Given the description of an element on the screen output the (x, y) to click on. 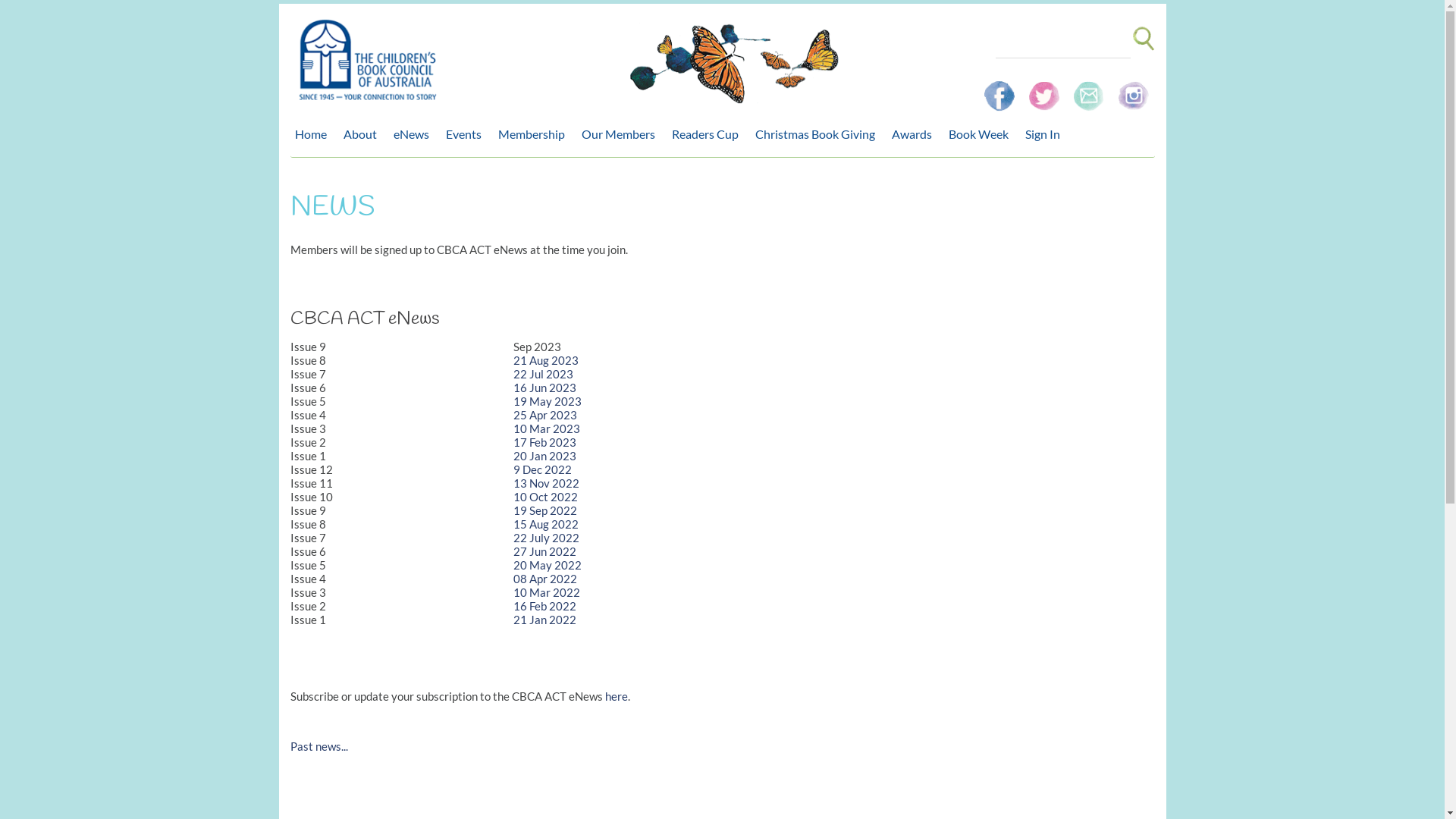
19 May 2023 Element type: text (547, 400)
Readers Cup Element type: text (708, 133)
25 Apr 2023 Element type: text (545, 414)
20 Jan 2023 Element type: text (544, 455)
Twitter @TheCBCA Element type: hover (1044, 89)
21 Aug 2023 Element type: text (545, 360)
Christmas Book Giving Element type: text (818, 133)
10 Oct 2022 Element type: text (545, 496)
Home Element type: text (313, 133)
Membership Element type: text (534, 133)
Sign In Element type: text (1046, 133)
27 Jun 2022 Element type: text (544, 551)
here Element type: text (616, 695)
Our Members Element type: text (621, 133)
20 May 2022 Element type: text (547, 564)
08 Apr 2022 Element type: text (545, 578)
Book Week Element type: text (981, 133)
22 July 2022 Element type: text (546, 537)
Past news... Element type: text (318, 746)
16 Jun 2023 Element type: text (544, 387)
21 Jan 2022 Element type: text (544, 619)
eNews Element type: text (414, 133)
16 Feb 2022 Element type: text (544, 605)
15 Aug 2022 Element type: text (545, 523)
13 Nov 2022 Element type: text (546, 482)
About Element type: text (363, 133)
Facebook Element type: hover (1000, 89)
Instagram Element type: hover (1132, 89)
10 Mar 2023 Element type: text (546, 428)
17 Feb 2023 Element type: text (544, 441)
Email Element type: hover (1089, 89)
9 Dec 2022 Element type: text (542, 469)
Events Element type: text (467, 133)
19 Sep 2022 Element type: text (545, 510)
10 Mar 2022 Element type: text (546, 592)
Awards Element type: text (915, 133)
22 Jul 2023 Element type: text (543, 373)
